Given the description of an element on the screen output the (x, y) to click on. 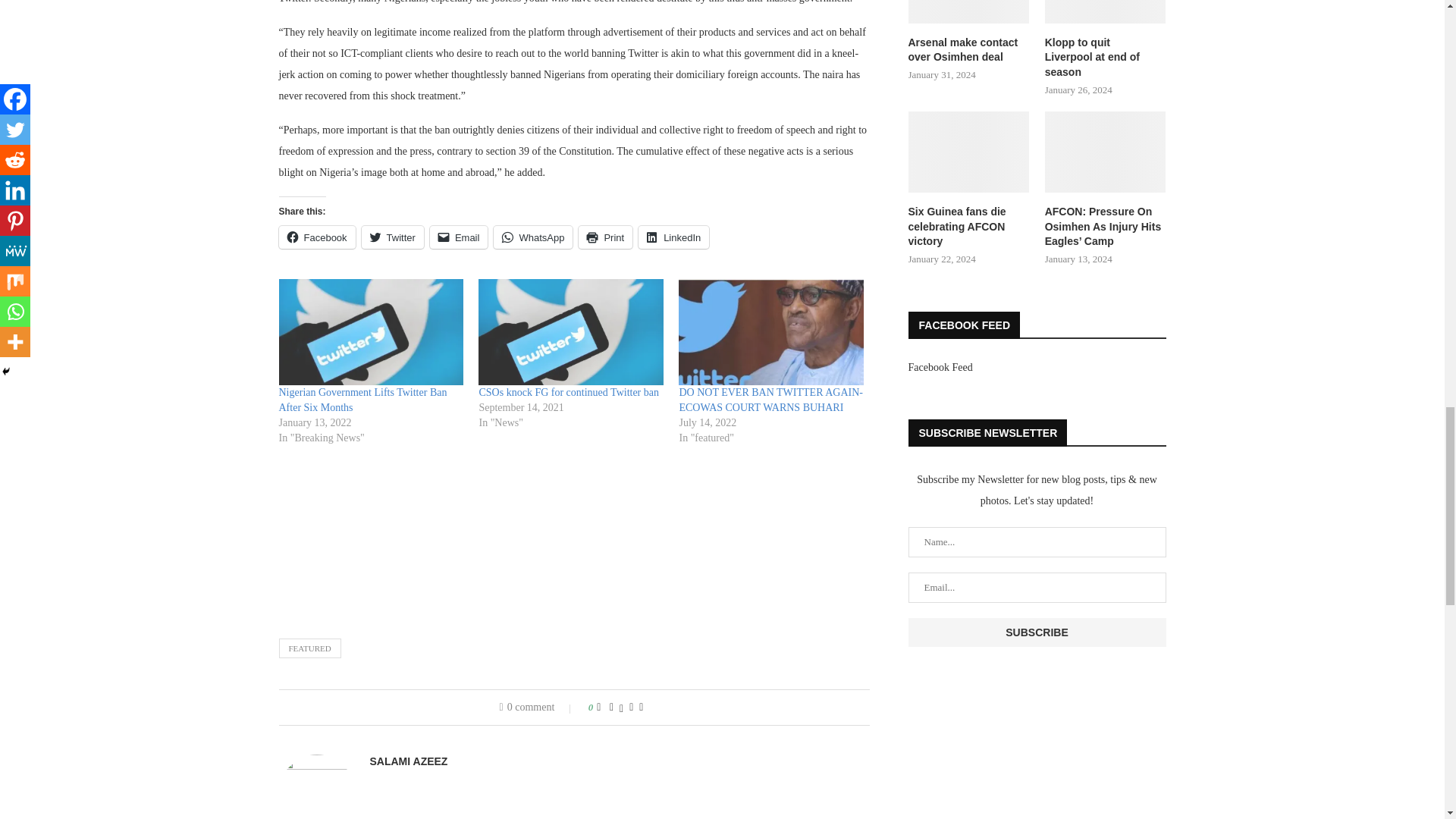
Subscribe (1037, 632)
